Given the description of an element on the screen output the (x, y) to click on. 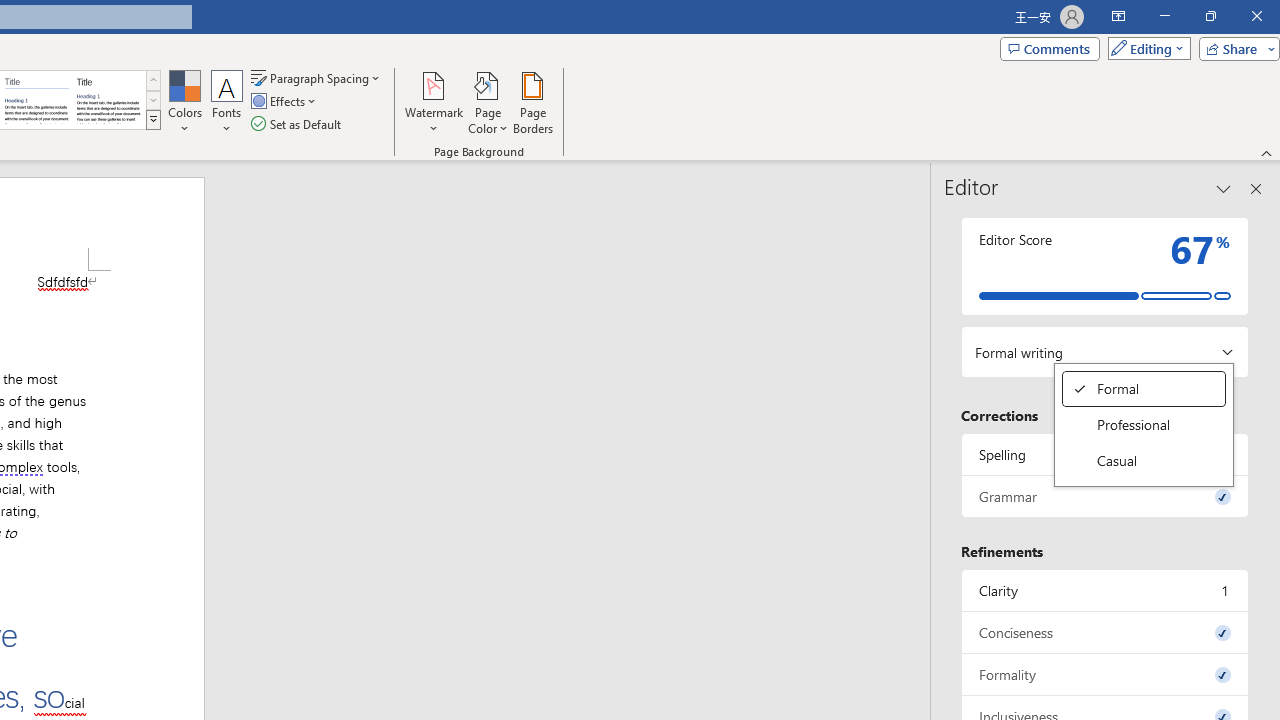
Editor Score 67% (1105, 266)
Formality, 0 issues. Press space or enter to review items. (1105, 673)
Word 2010 (36, 100)
Clarity, 1 issue. Press space or enter to review items. (1144, 388)
Fonts (1105, 590)
Set as Default (227, 102)
